Given the description of an element on the screen output the (x, y) to click on. 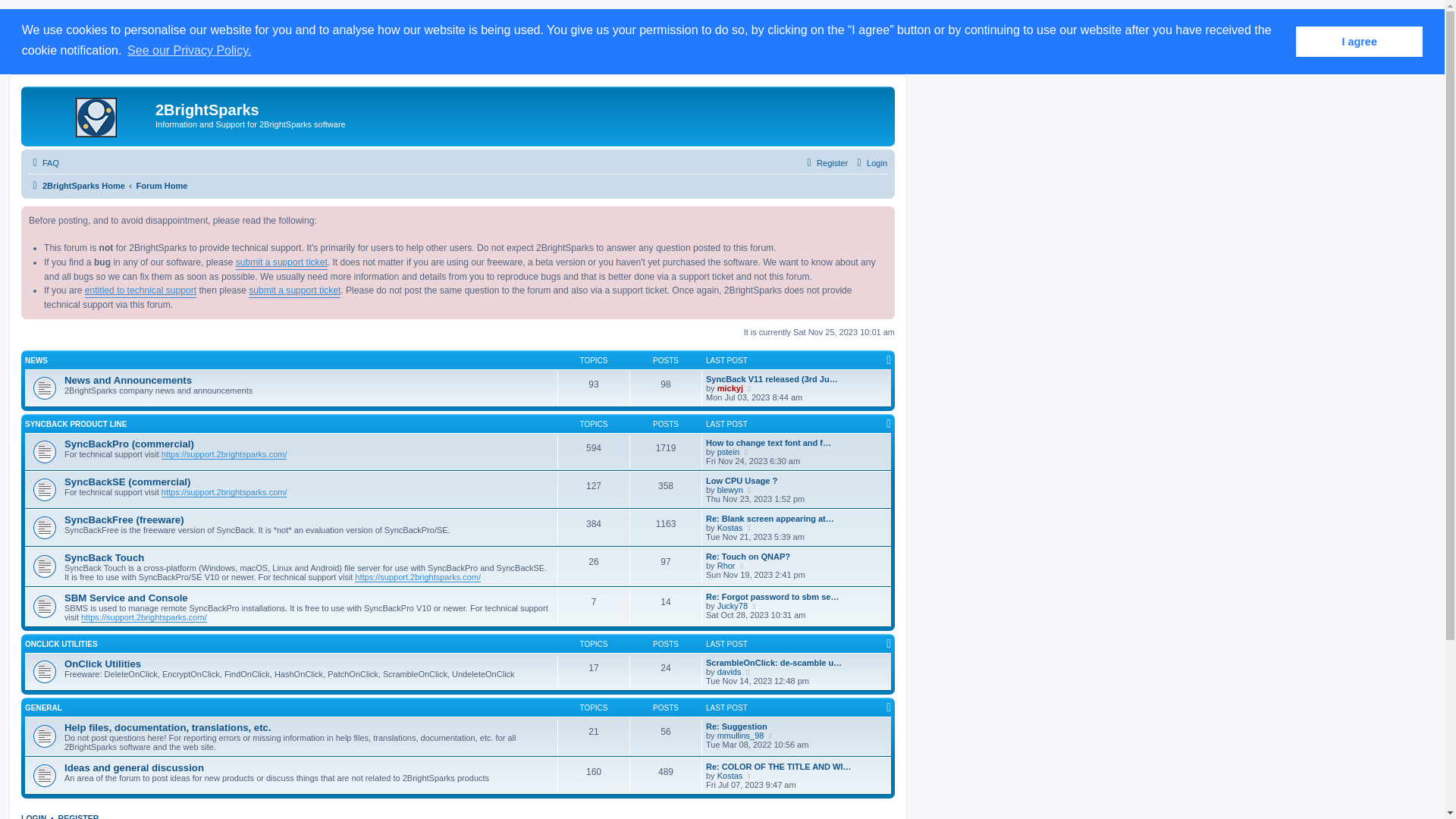
View the latest post Element type: text (770, 735)
Low CPU Usage ? Element type: text (741, 480)
See our Privacy Policy. Element type: text (189, 50)
Register Element type: text (825, 162)
pstein Element type: text (728, 451)
Login Element type: text (870, 162)
News and Announcements Element type: text (127, 379)
Hide this forum category Element type: hover (888, 643)
https://support.2brightsparks.com/ Element type: text (224, 454)
submit a support ticket Element type: text (281, 262)
https://support.2brightsparks.com/ Element type: text (224, 492)
View the latest post Element type: text (750, 387)
NEWS Element type: text (36, 360)
FAQ Element type: text (43, 162)
View the latest post Element type: text (742, 565)
SyncBack Touch Element type: text (104, 557)
Re: Touch on QNAP? Element type: text (748, 556)
mmullins_98 Element type: text (740, 735)
ONCLICK UTILITIES Element type: text (61, 644)
Kostas Element type: text (730, 775)
Help files, documentation, translations, etc. Element type: text (167, 727)
mickyj Element type: text (730, 387)
Jucky78 Element type: text (732, 605)
View the latest post Element type: text (754, 605)
Forum Home Element type: text (161, 185)
View the latest post Element type: text (748, 671)
GENERAL Element type: text (43, 707)
Kostas Element type: text (730, 527)
2BrightSparks Home Element type: text (76, 185)
entitled to technical support Element type: text (140, 290)
SyncBackPro (commercial) Element type: text (129, 443)
davids Element type: text (729, 671)
2BrightSparks Home Element type: hover (90, 114)
SBM Service and Console Element type: text (126, 597)
Re: Suggestion Element type: text (736, 726)
View the latest post Element type: text (749, 775)
View the latest post Element type: text (750, 489)
Ideas and general discussion Element type: text (133, 767)
View the latest post Element type: text (749, 527)
https://support.2brightsparks.com/ Element type: text (417, 577)
blewyn Element type: text (730, 489)
Hide this forum category Element type: hover (888, 360)
OnClick Utilities Element type: text (102, 663)
SyncBackFree (freeware) Element type: text (124, 519)
Hide this forum category Element type: hover (888, 423)
View the latest post Element type: text (746, 451)
Hide this forum category Element type: hover (888, 707)
https://support.2brightsparks.com/ Element type: text (144, 617)
submit a support ticket Element type: text (294, 290)
Rhor Element type: text (726, 565)
SyncBackSE (commercial) Element type: text (127, 481)
SYNCBACK PRODUCT LINE Element type: text (75, 424)
I agree Element type: text (1358, 41)
